Given the description of an element on the screen output the (x, y) to click on. 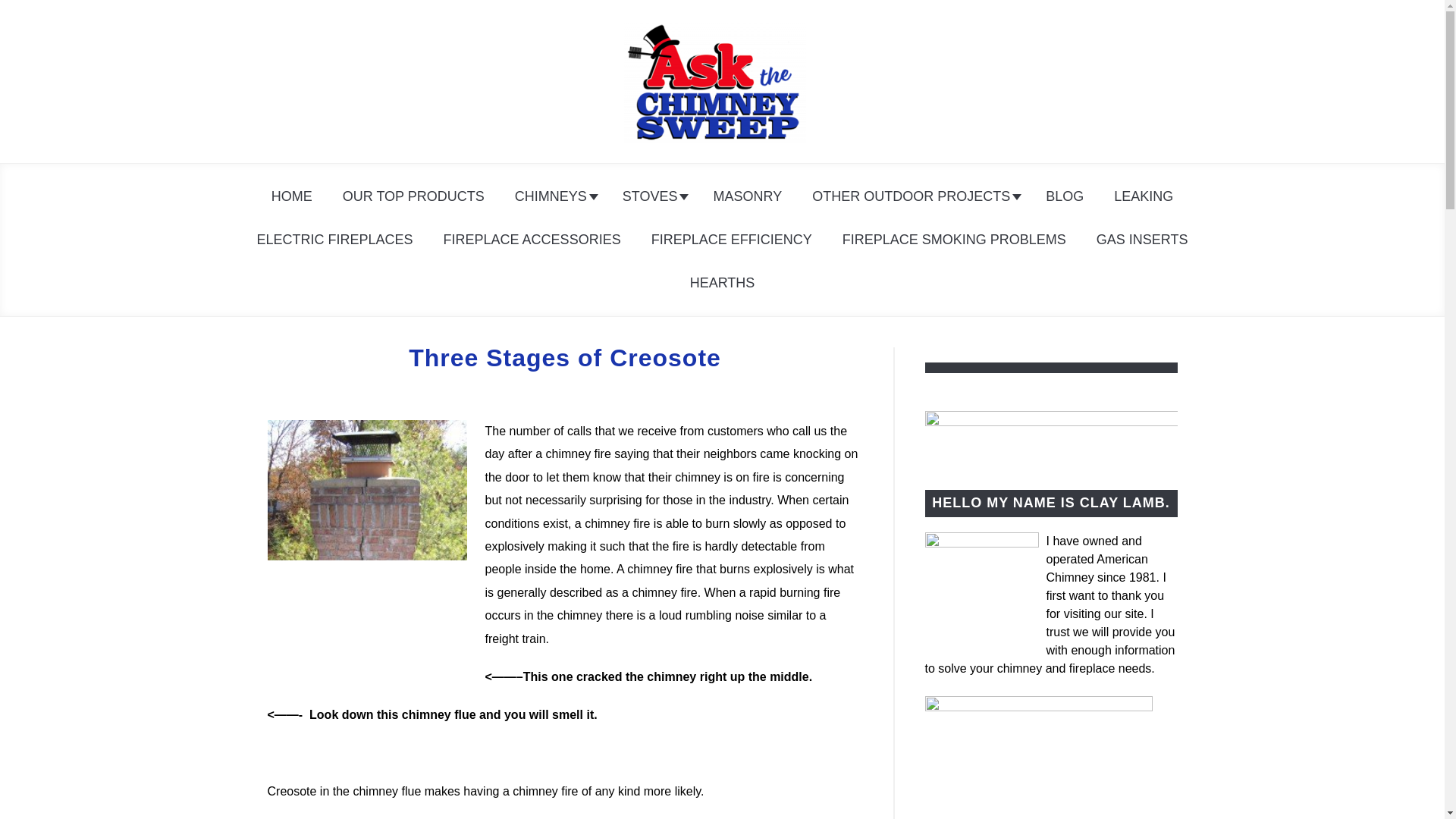
CHIMNEYS (553, 196)
clay-lamb-chimney-sweep (981, 589)
MASONRY (746, 196)
STOVES (652, 196)
OUR TOP PRODUCTS (413, 196)
OTHER OUTDOOR PROJECTS (913, 196)
HOME (291, 196)
Search (1203, 80)
